Given the description of an element on the screen output the (x, y) to click on. 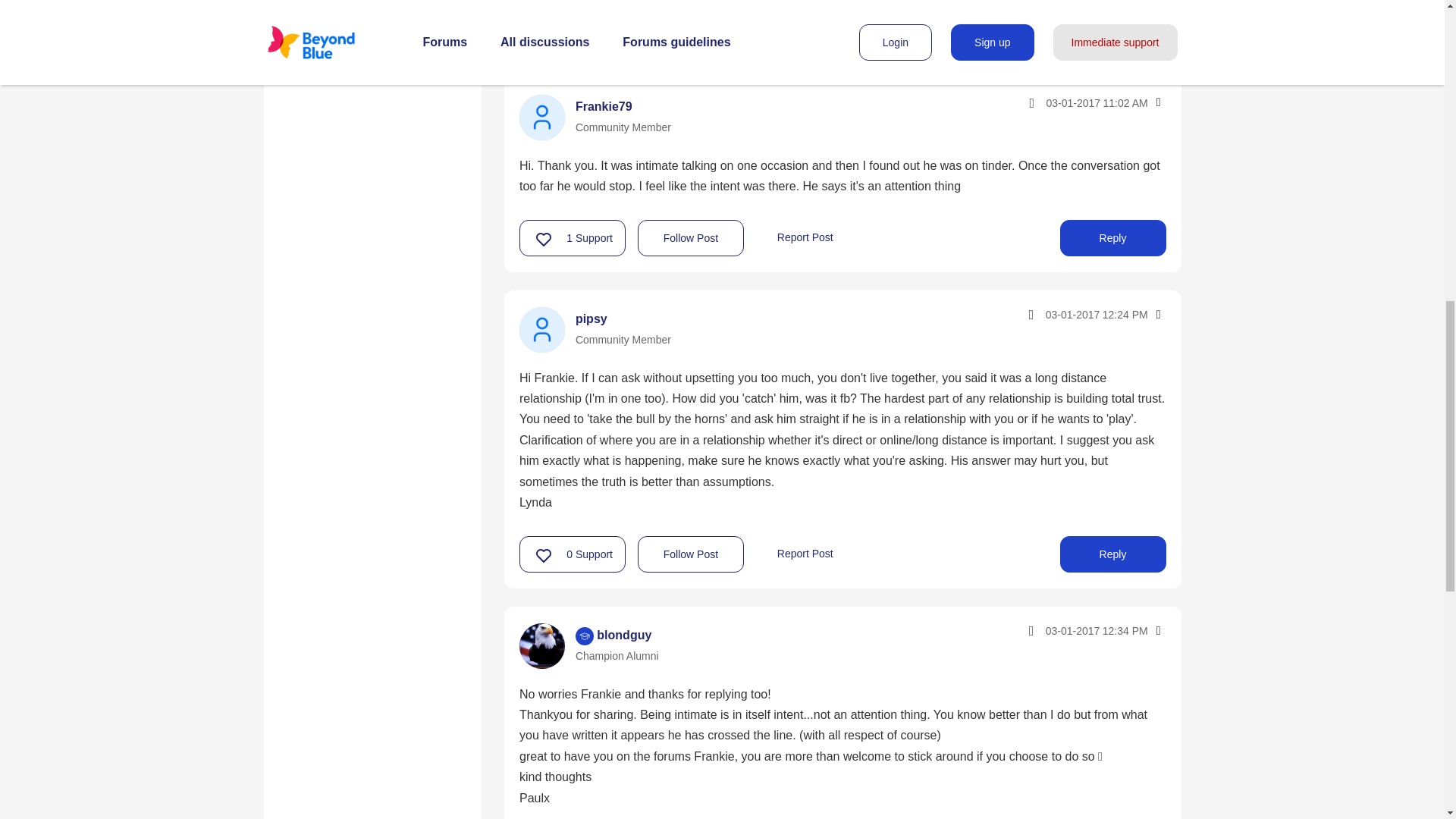
Caring for myself and others (372, 12)
Click here to give support to this post. (543, 26)
Frankie79 (541, 117)
Posted on (1063, 102)
Show option menu (1157, 102)
People like me (331, 49)
